Given the description of an element on the screen output the (x, y) to click on. 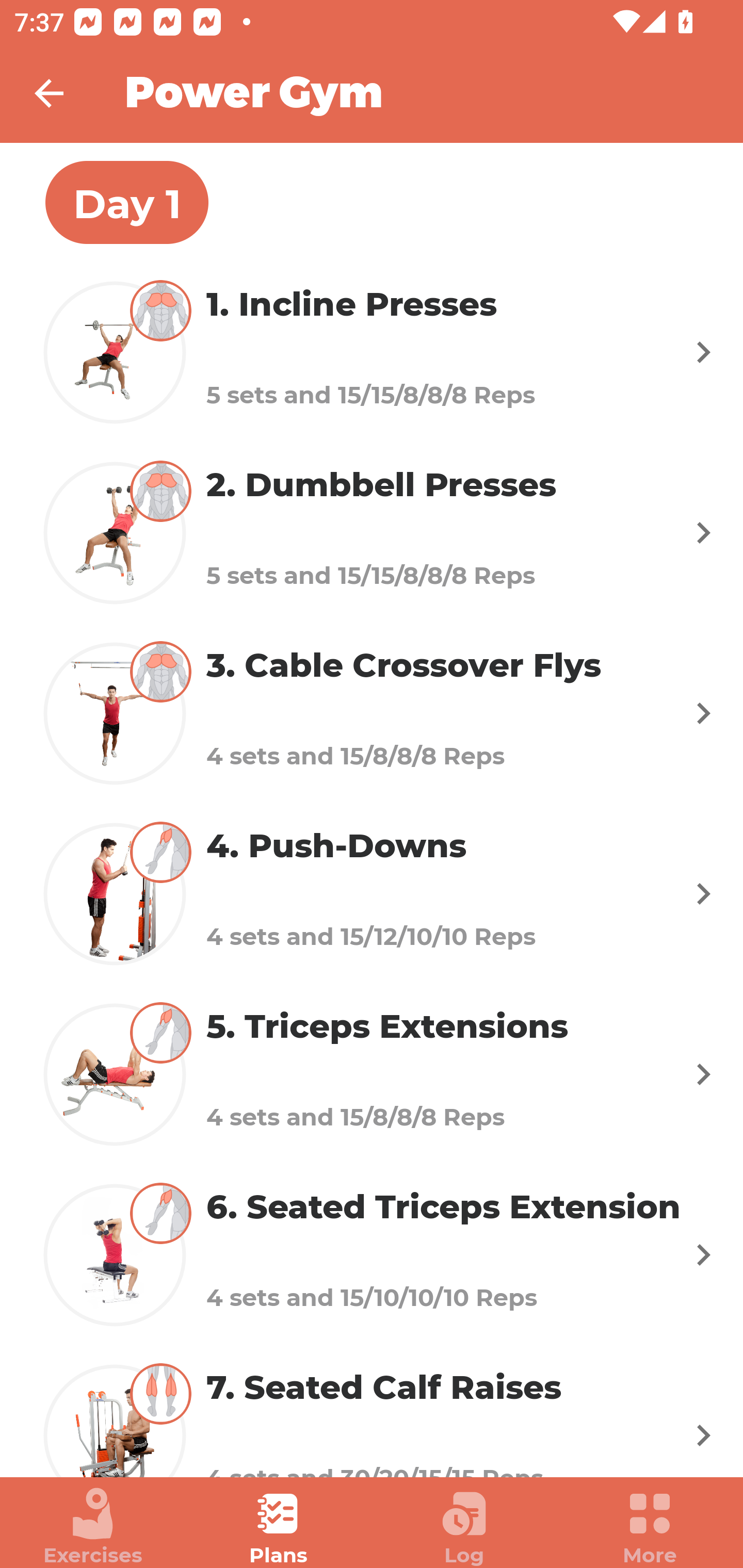
Back (62, 92)
1. Incline Presses 5 sets and 15/15/8/8/8 Reps (371, 351)
2. Dumbbell Presses 5 sets and 15/15/8/8/8 Reps (371, 532)
3. Cable Crossover Flys 4 sets and 15/8/8/8 Reps (371, 712)
4. Push-Downs 4 sets and 15/12/10/10 Reps (371, 893)
5. Triceps Extensions 4 sets and 15/8/8/8 Reps (371, 1074)
7. Seated Calf Raises 4 sets and 30/20/15/15 Reps (371, 1411)
Exercises (92, 1527)
Plans (278, 1527)
Log (464, 1527)
More (650, 1527)
